Given the description of an element on the screen output the (x, y) to click on. 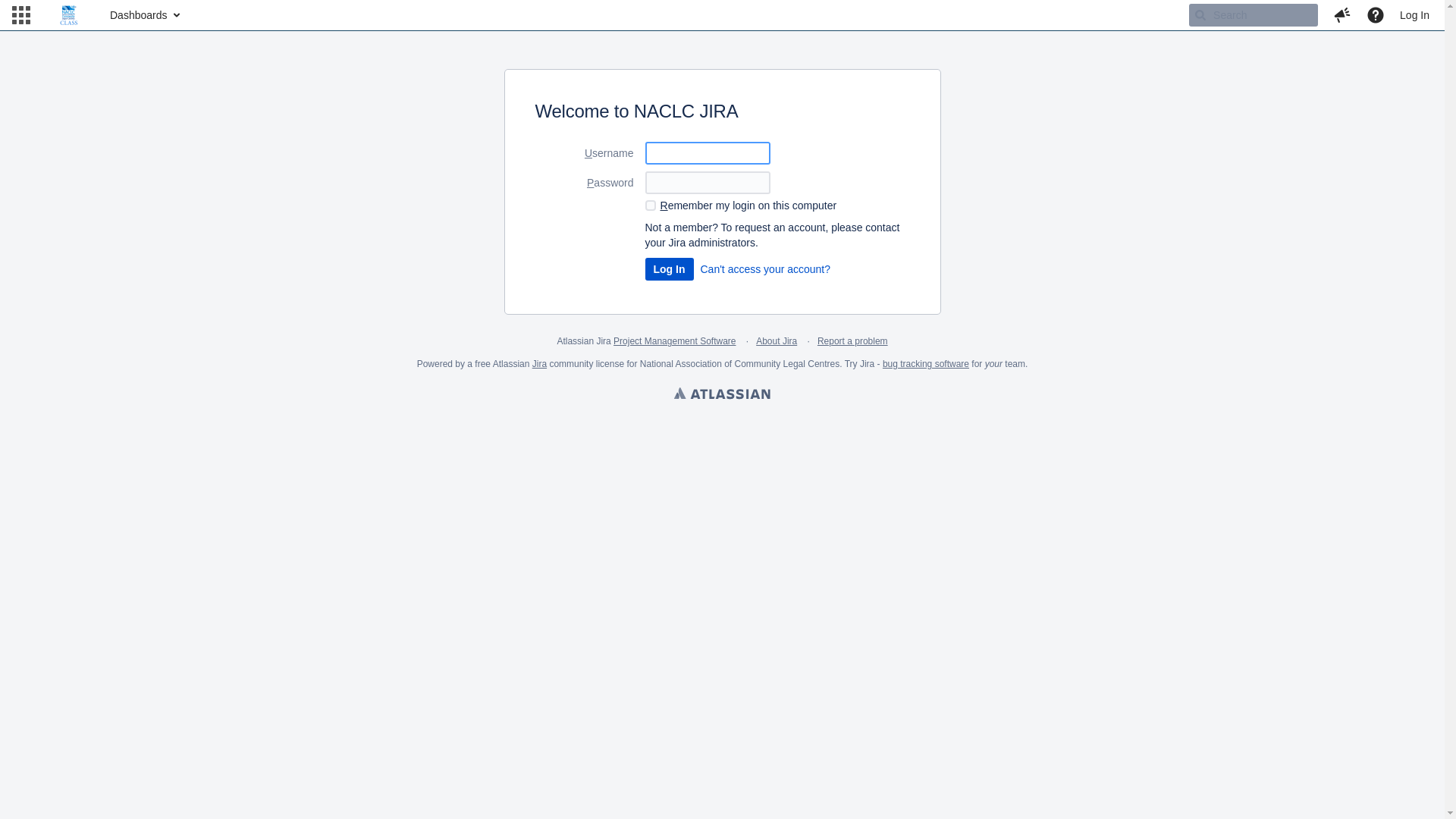
About Jira Element type: text (776, 340)
bug tracking software Element type: text (925, 363)
Give feedback to Atlassian Element type: text (1341, 15)
Press Alt+s to submit this form Element type: hover (668, 268)
Help Element type: text (1375, 15)
Linked Applications Element type: text (20, 15)
Log In Element type: text (668, 268)
Dashboards Element type: text (143, 15)
Can't access your account? Element type: text (765, 268)
Jira Element type: text (539, 363)
Atlassian Element type: text (722, 394)
Project Management Software Element type: text (674, 340)
Report a problem Element type: text (852, 340)
Log In Element type: text (1414, 15)
Search ( Type '/' ) Element type: hover (1253, 14)
